Given the description of an element on the screen output the (x, y) to click on. 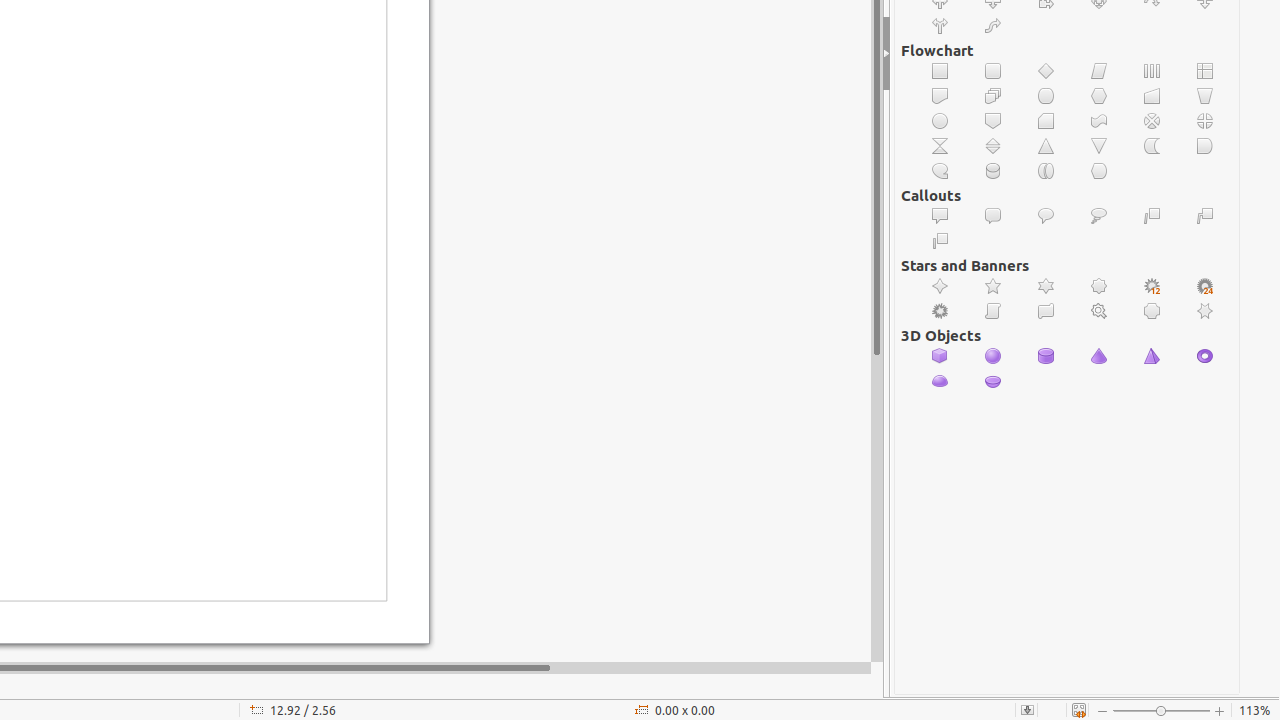
24-Point Star Element type: list-item (1205, 286)
Flowchart: Predefined Process Element type: list-item (1152, 71)
Cone Element type: list-item (1099, 356)
Cube Element type: list-item (940, 356)
12-Point Star Element type: list-item (1152, 286)
